Given the description of an element on the screen output the (x, y) to click on. 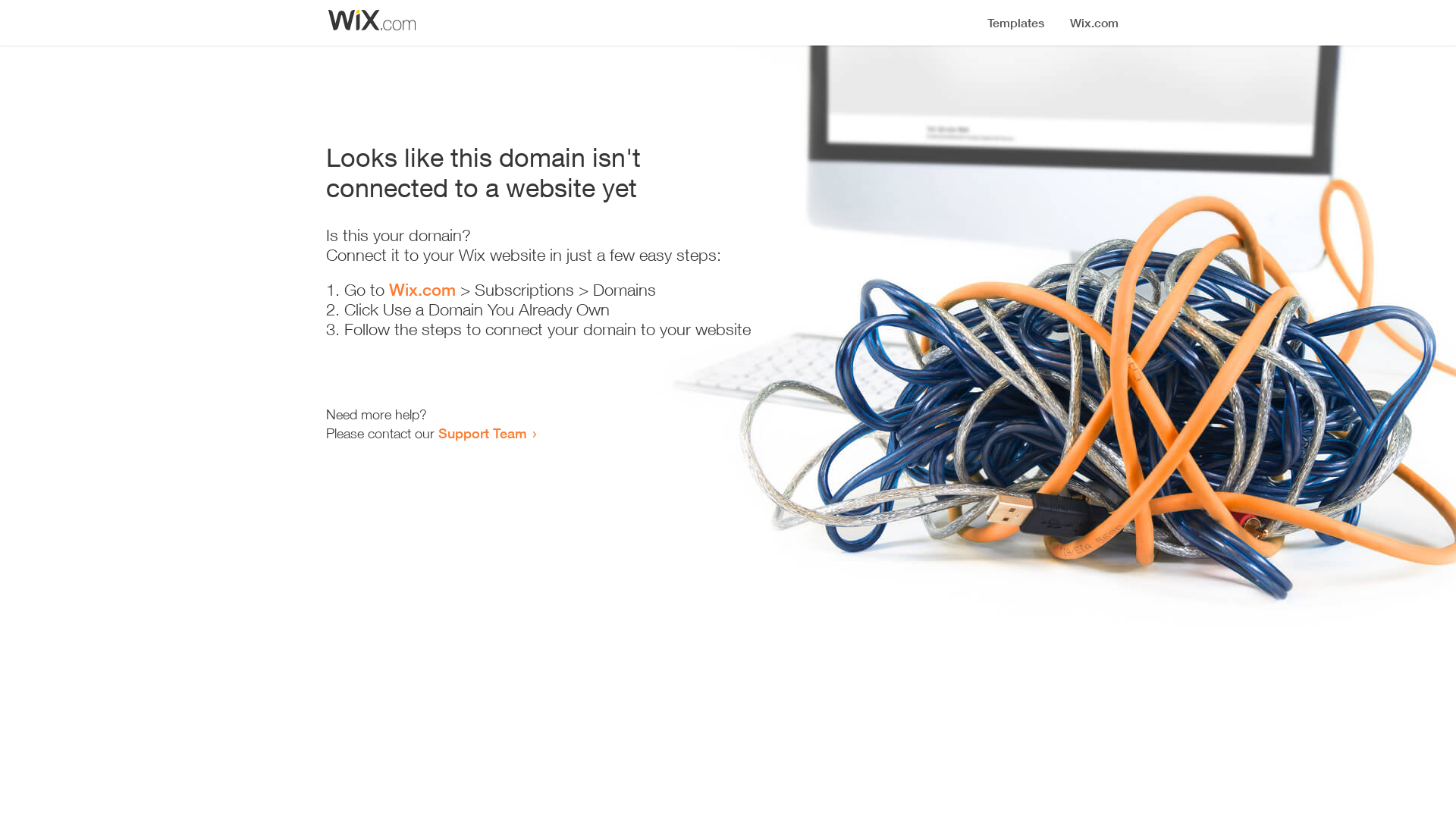
Support Team Element type: text (482, 432)
Wix.com Element type: text (422, 289)
